Given the description of an element on the screen output the (x, y) to click on. 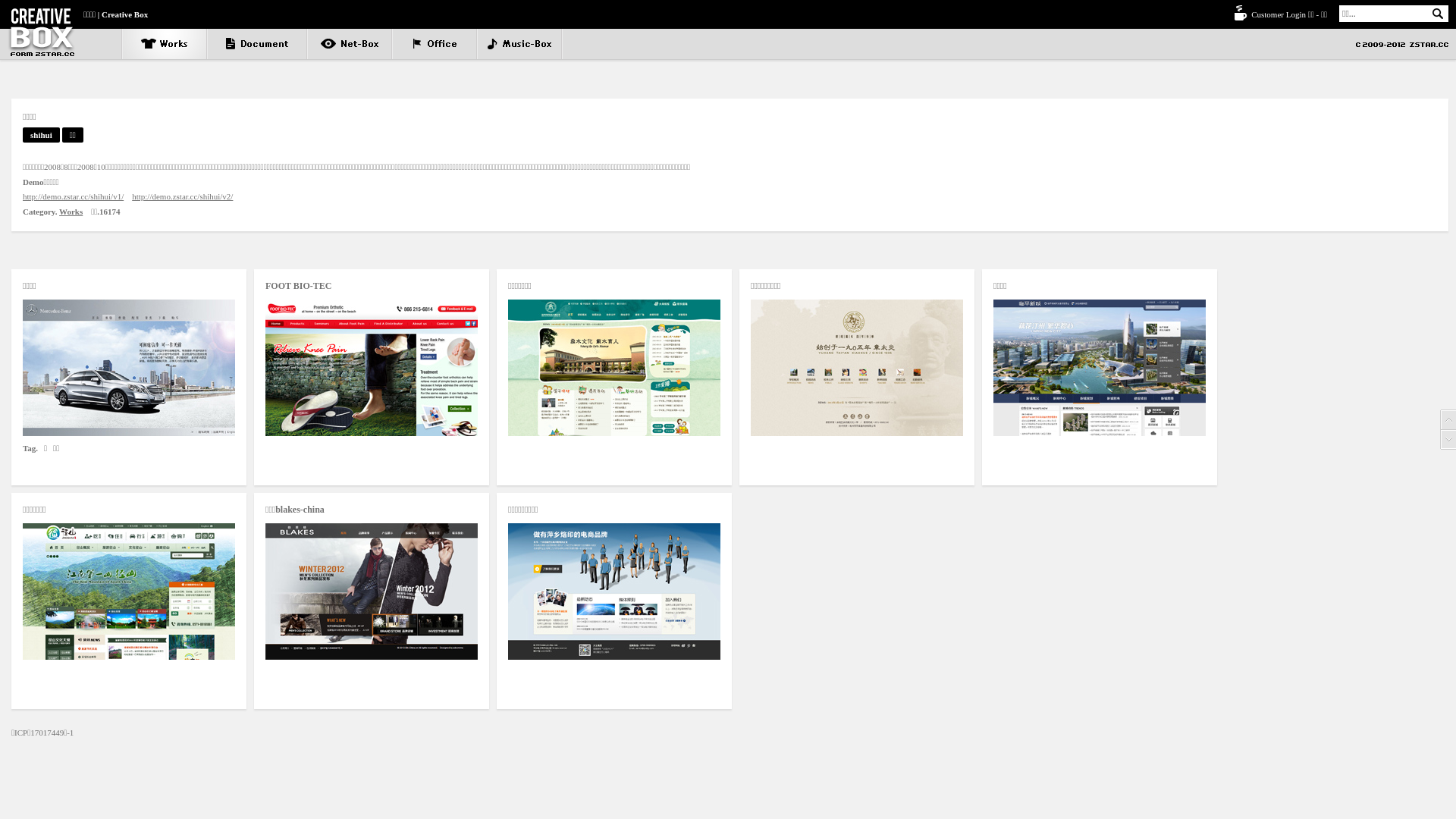
FOOT BIO-TEC Element type: hover (371, 367)
http://demo.zstar.cc/shihui/v1/ Element type: text (72, 195)
Works Element type: text (70, 211)
shihui Element type: text (40, 134)
http://demo.zstar.cc/shihui/v2/ Element type: text (181, 195)
